Given the description of an element on the screen output the (x, y) to click on. 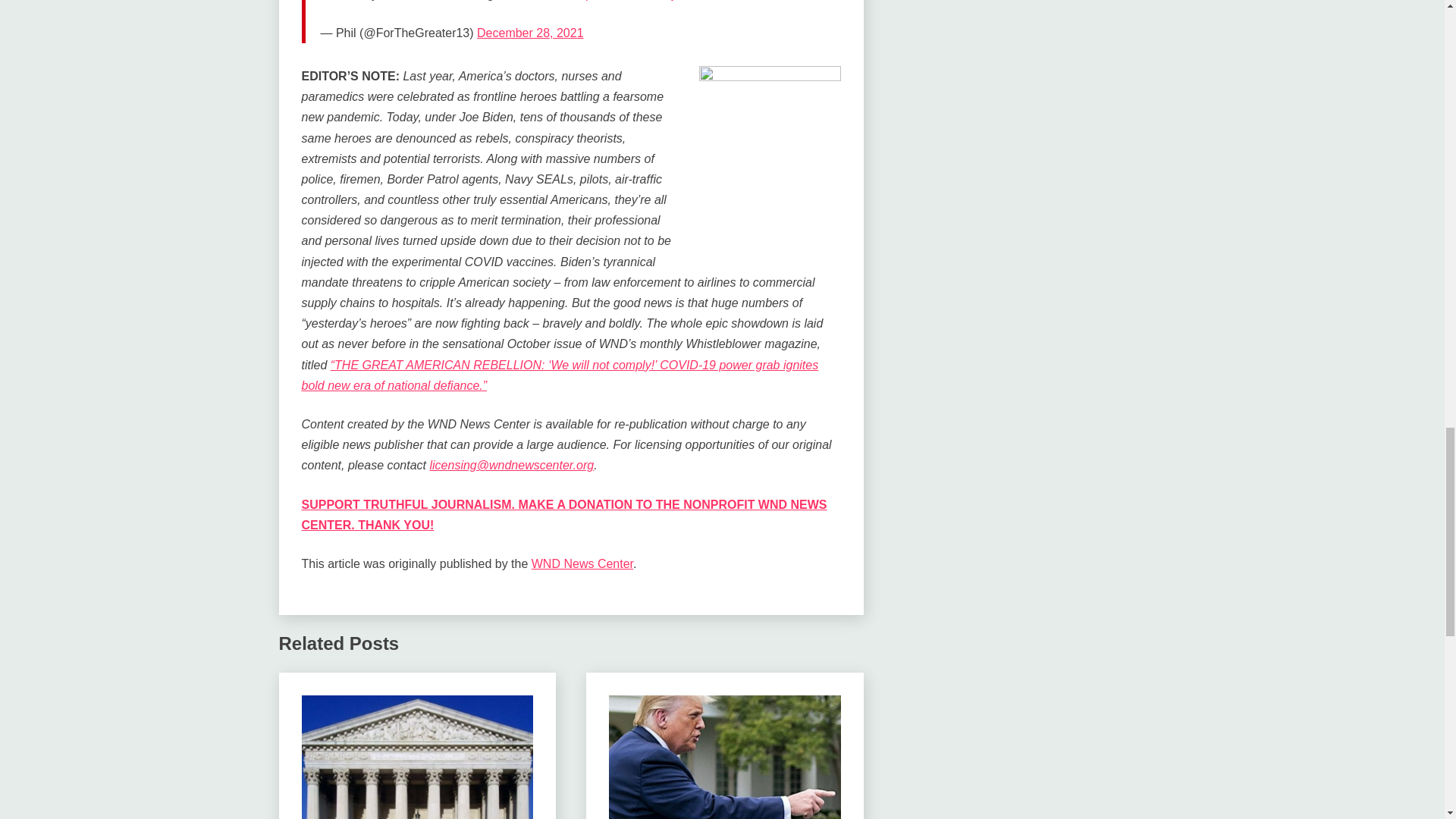
WND News Center (582, 563)
December 28, 2021 (530, 32)
